Given the description of an element on the screen output the (x, y) to click on. 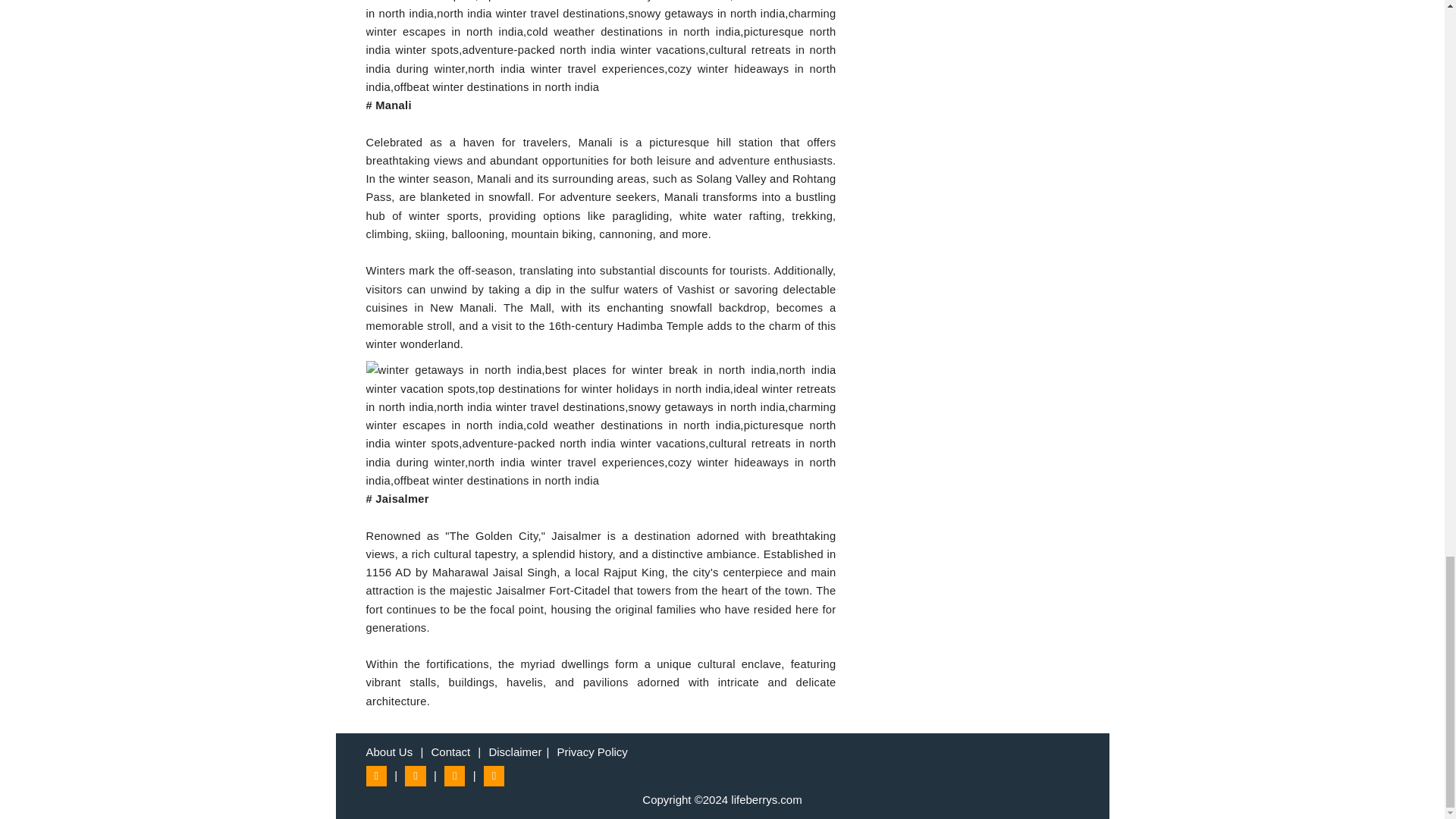
Privacy Policy (591, 751)
About Us (388, 751)
Disclaimer (514, 751)
Contact (450, 751)
